Given the description of an element on the screen output the (x, y) to click on. 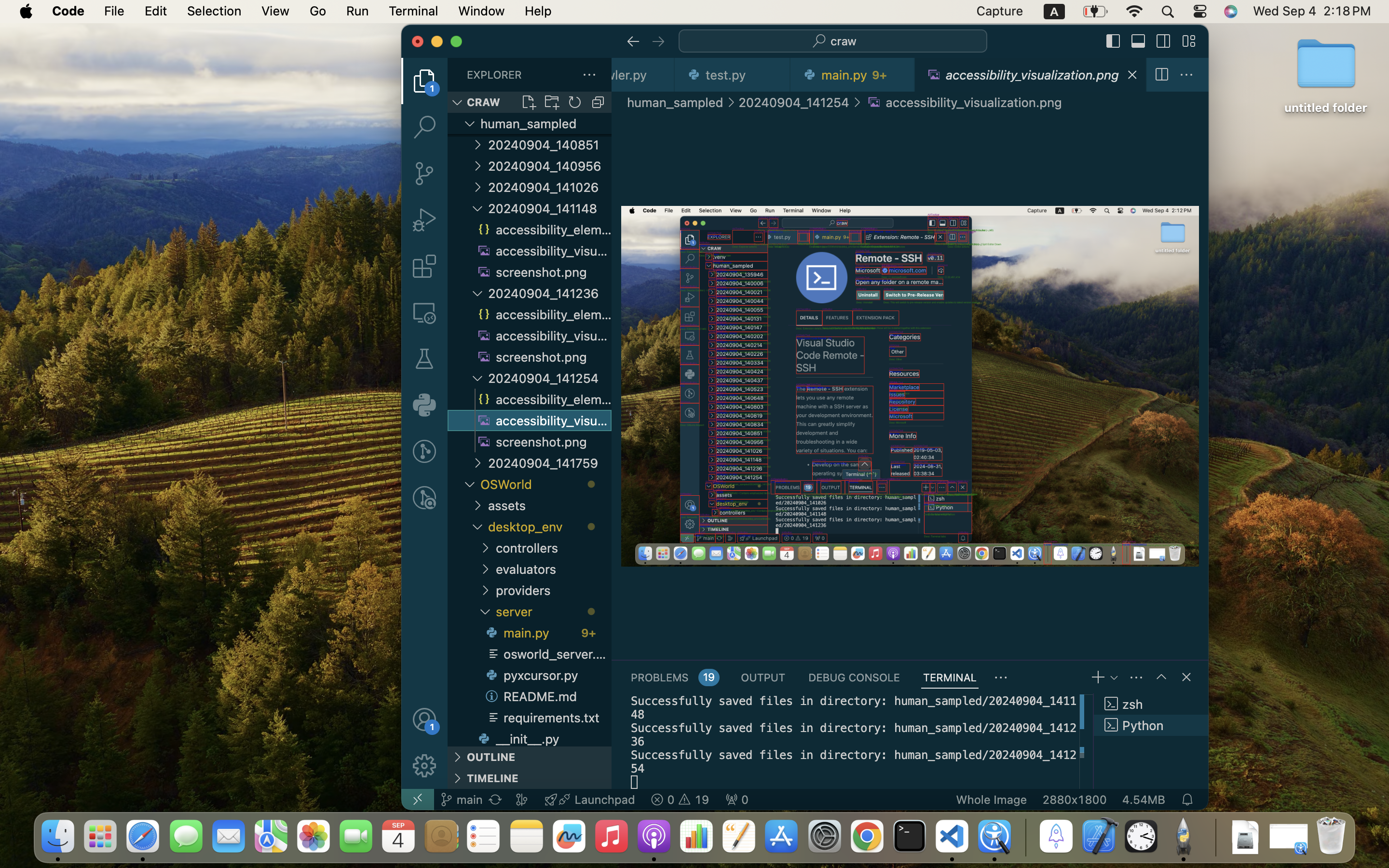
 Element type: AXCheckBox (1163, 41)
 Element type: AXButton (1188, 41)
screenshot.png  Element type: AXGroup (542, 271)
0 test.py   Element type: AXRadioButton (732, 74)
